Given the description of an element on the screen output the (x, y) to click on. 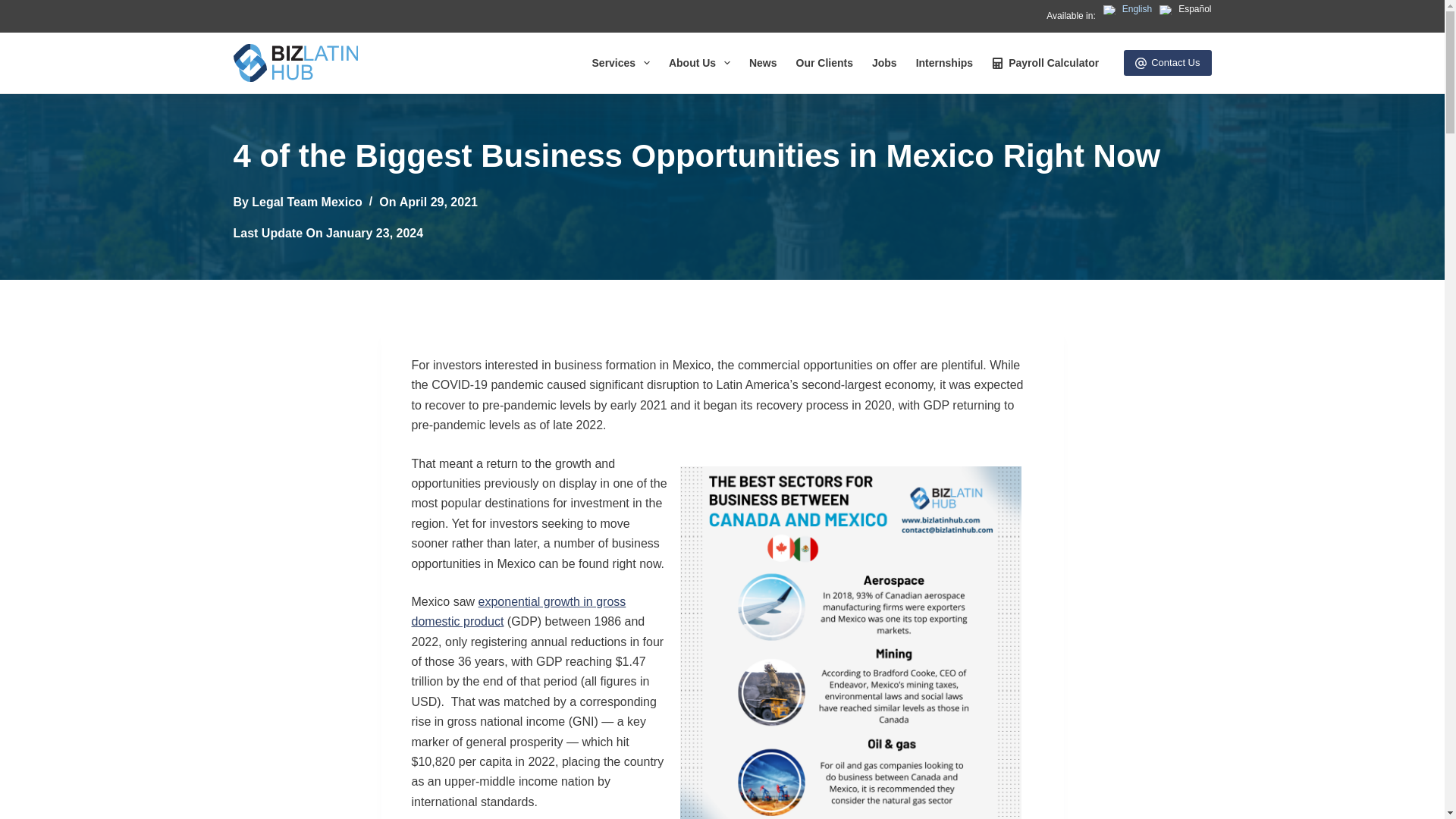
English (1127, 9)
Services (620, 63)
Skip to content (15, 7)
Posts by Legal Team Mexico (306, 201)
4 of the Biggest Business Opportunities in Mexico Right Now (721, 155)
About Us (699, 63)
